Given the description of an element on the screen output the (x, y) to click on. 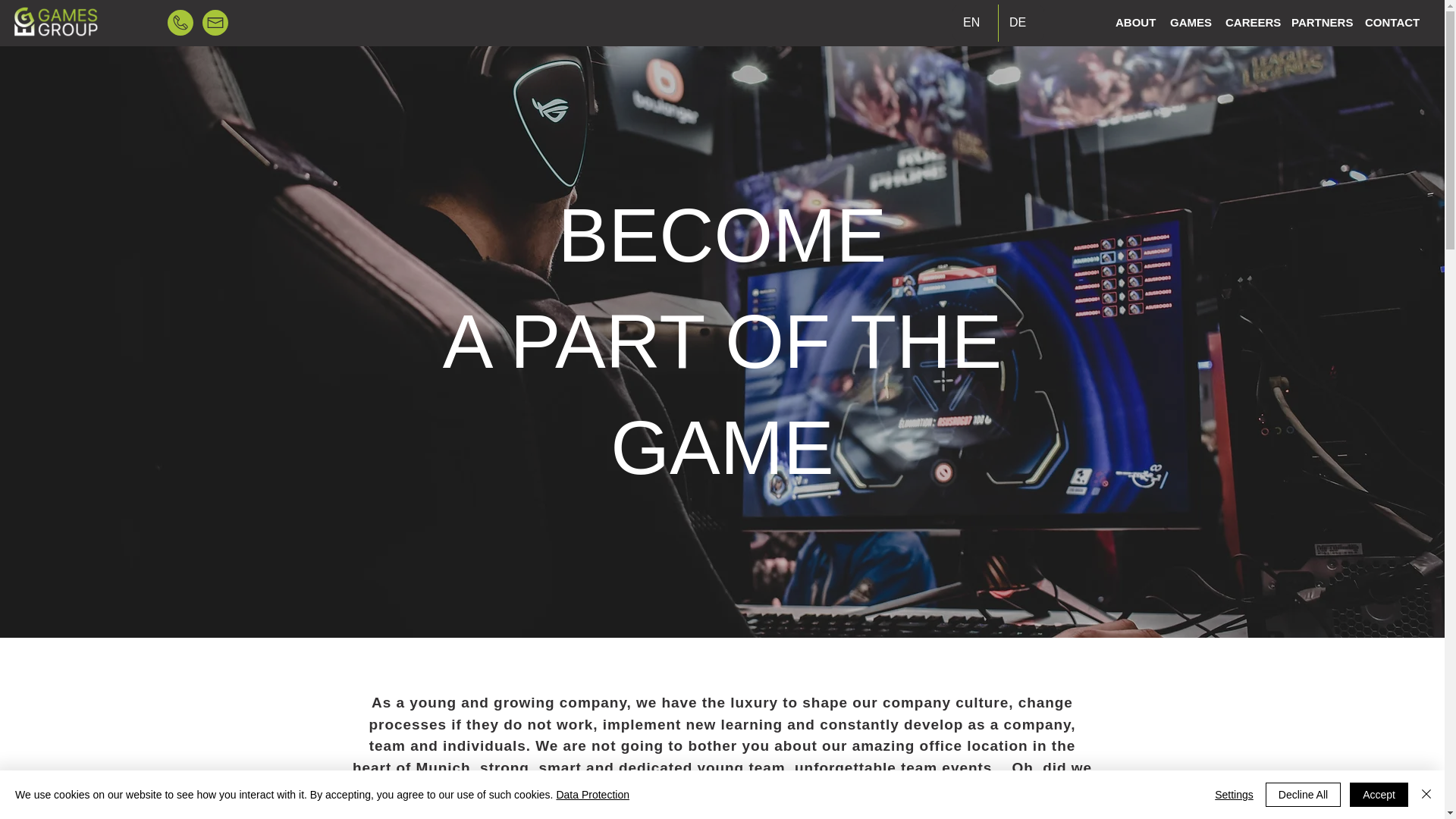
Accept (1378, 794)
PARTNERS (1319, 22)
CONTACT (1391, 22)
GAMES (1189, 22)
CAREERS (1249, 22)
Data Protection (592, 794)
EN (974, 22)
ABOUT (1133, 22)
DE (1020, 22)
Decline All (1302, 794)
